Given the description of an element on the screen output the (x, y) to click on. 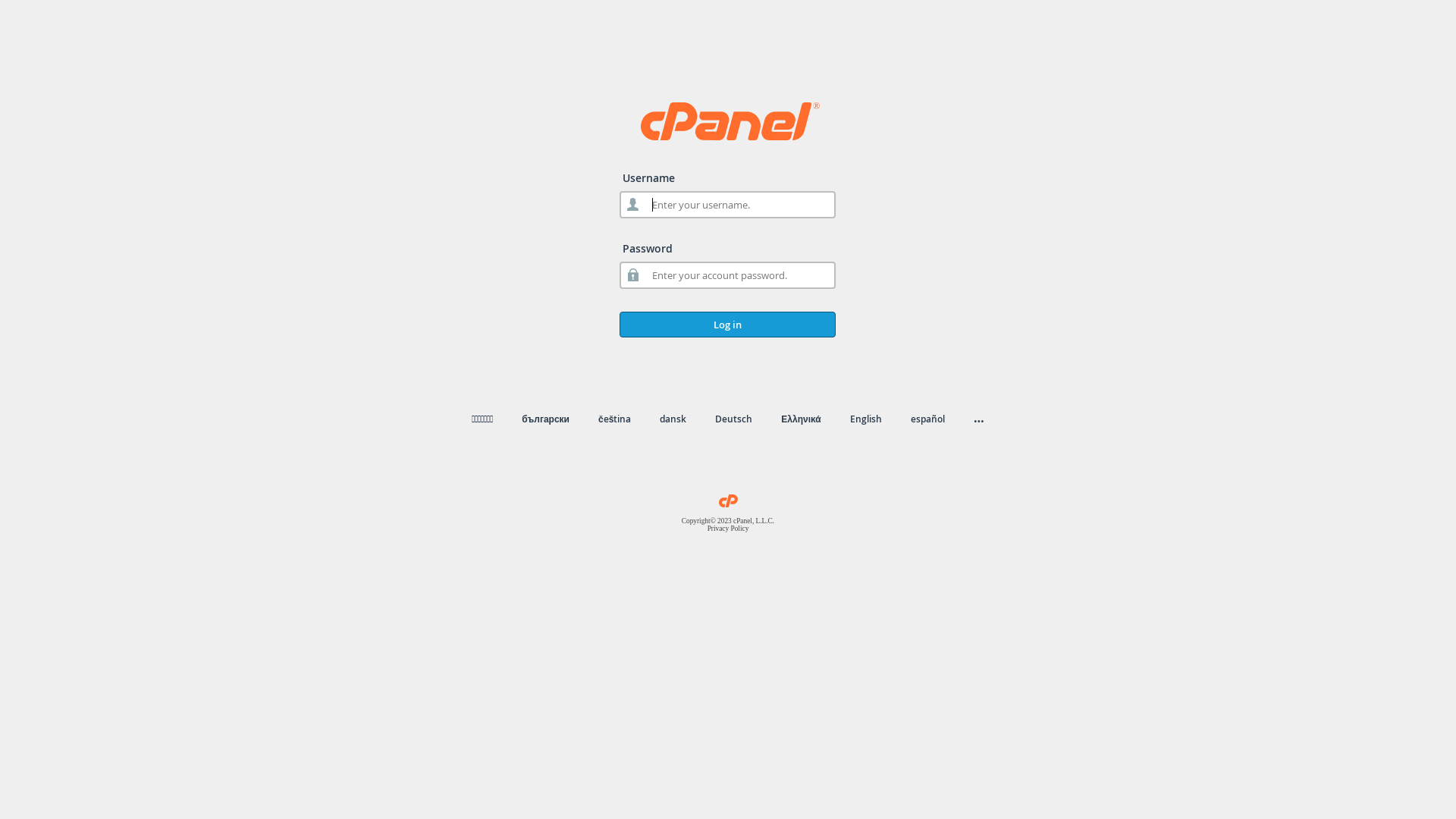
dansk Element type: text (672, 418)
English Element type: text (865, 418)
Deutsch Element type: text (733, 418)
Privacy Policy Element type: text (728, 528)
Log in Element type: text (727, 324)
